Given the description of an element on the screen output the (x, y) to click on. 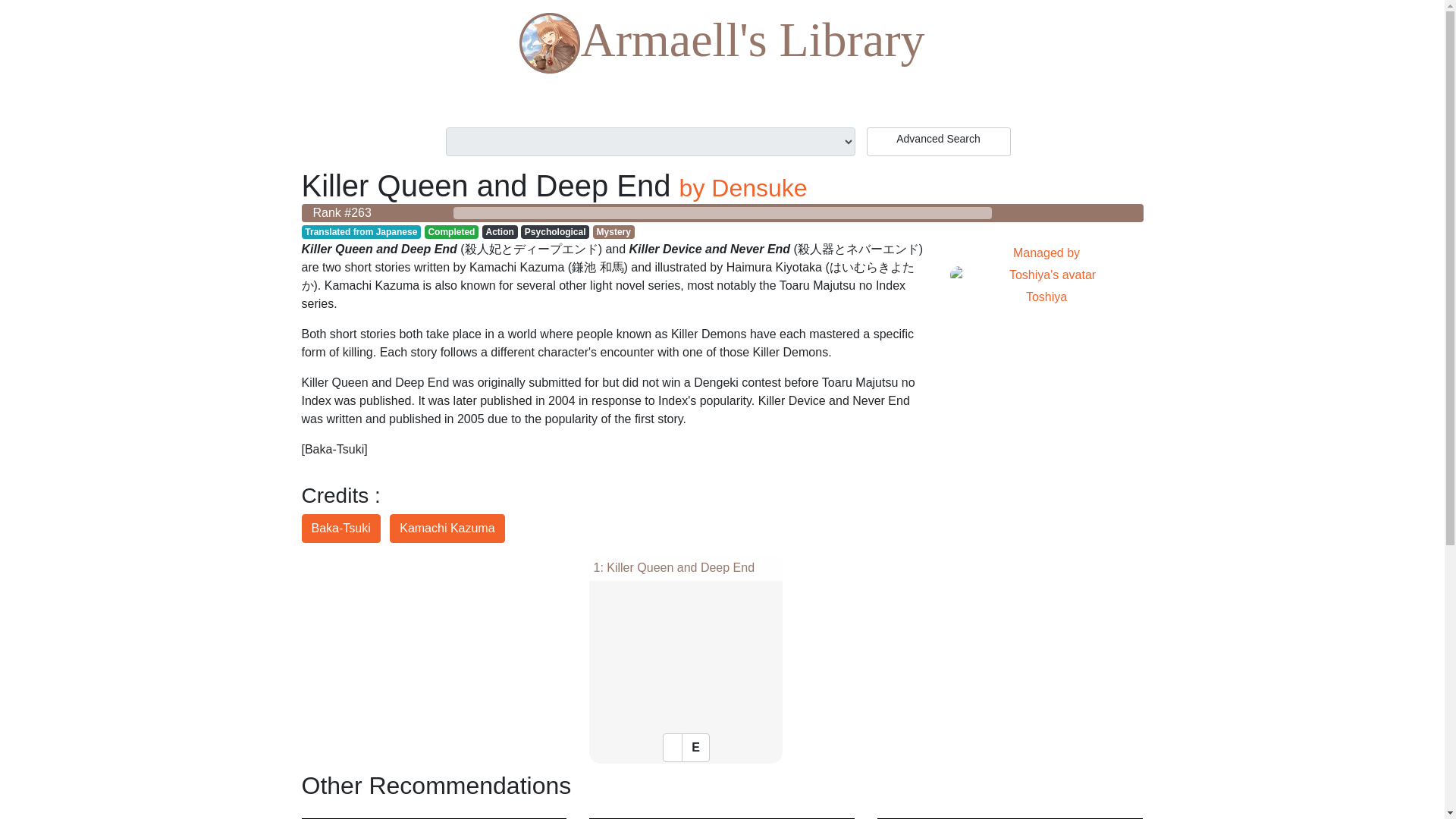
Advanced Search (938, 141)
EPUB download (1045, 275)
Armaell's Library (695, 747)
Mystery (721, 43)
Psychological (613, 232)
Translator (555, 232)
by Densuke (340, 528)
Action (743, 187)
Author (499, 232)
